Given the description of an element on the screen output the (x, y) to click on. 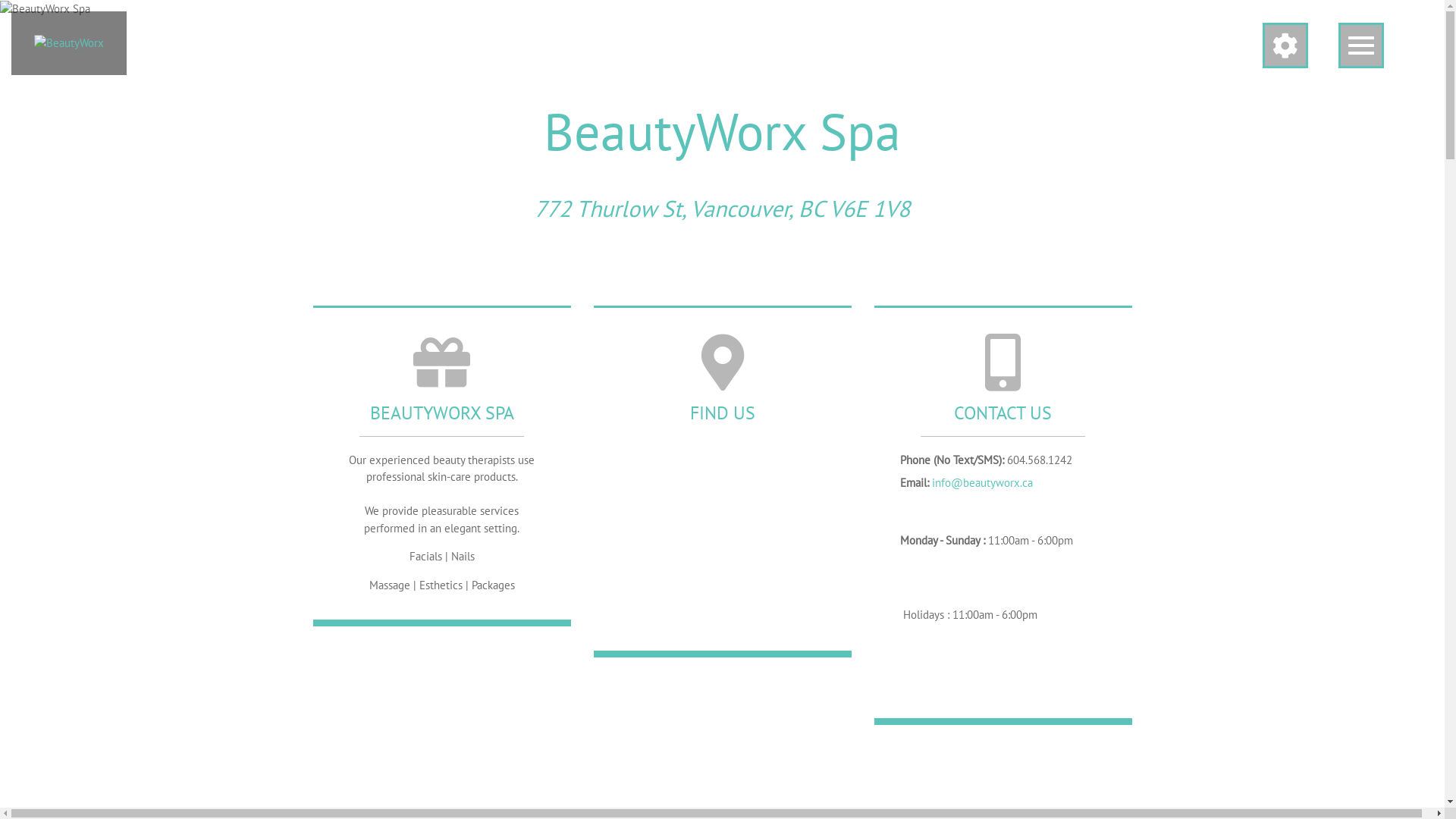
Spa Services Element type: text (441, 463)
Contact Details Element type: text (1002, 512)
BeautyWorx  Element type: hover (68, 43)
772 Thurlow St, Vancouver, BC V6E 1V8 Element type: text (722, 207)
Spa Location Element type: text (721, 478)
info@beautyworx.ca Element type: text (981, 482)
